Given the description of an element on the screen output the (x, y) to click on. 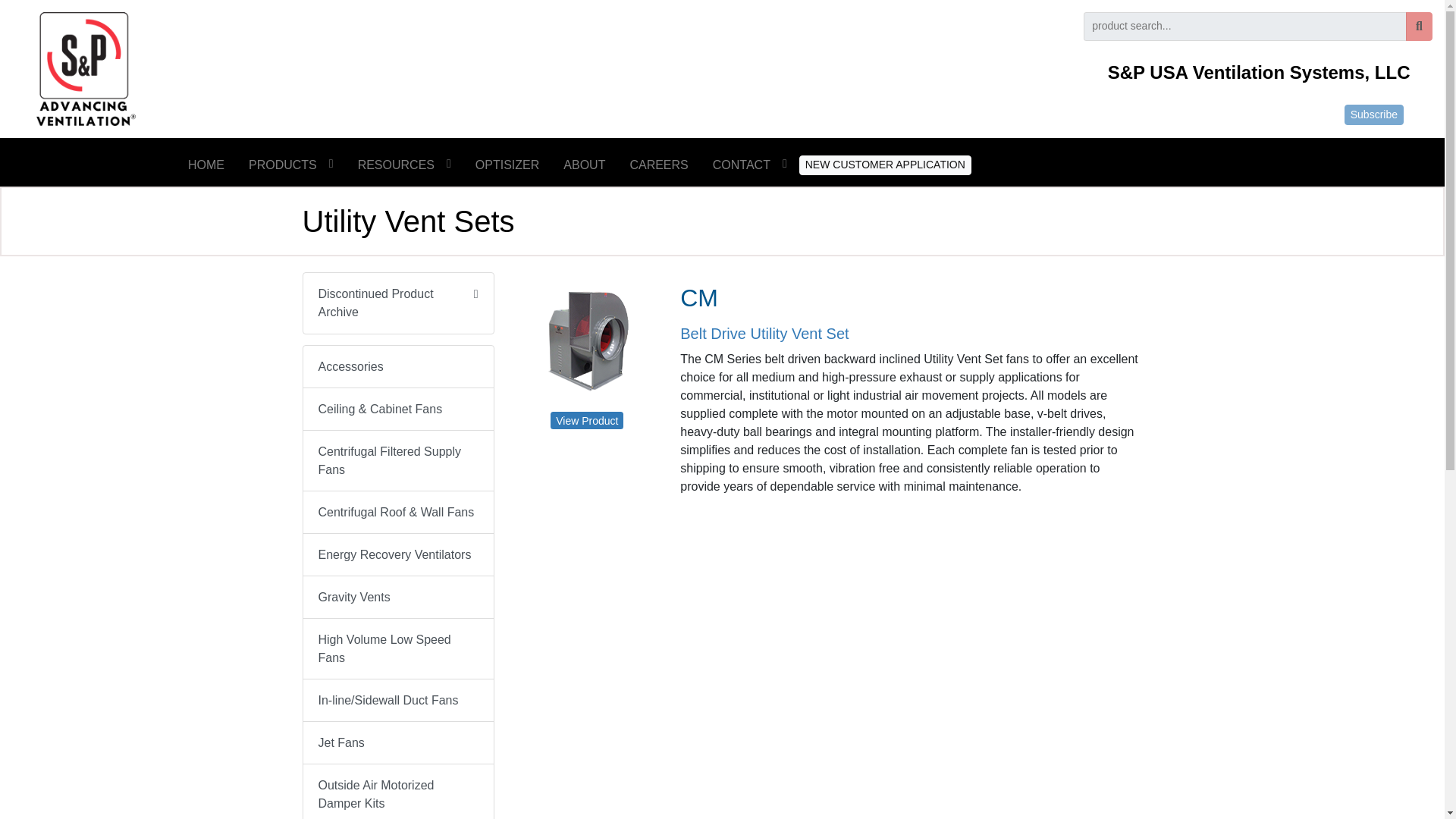
PRODUCTS (290, 165)
Subscribe (1373, 114)
RESOURCES (404, 165)
HOME (205, 165)
